Given the description of an element on the screen output the (x, y) to click on. 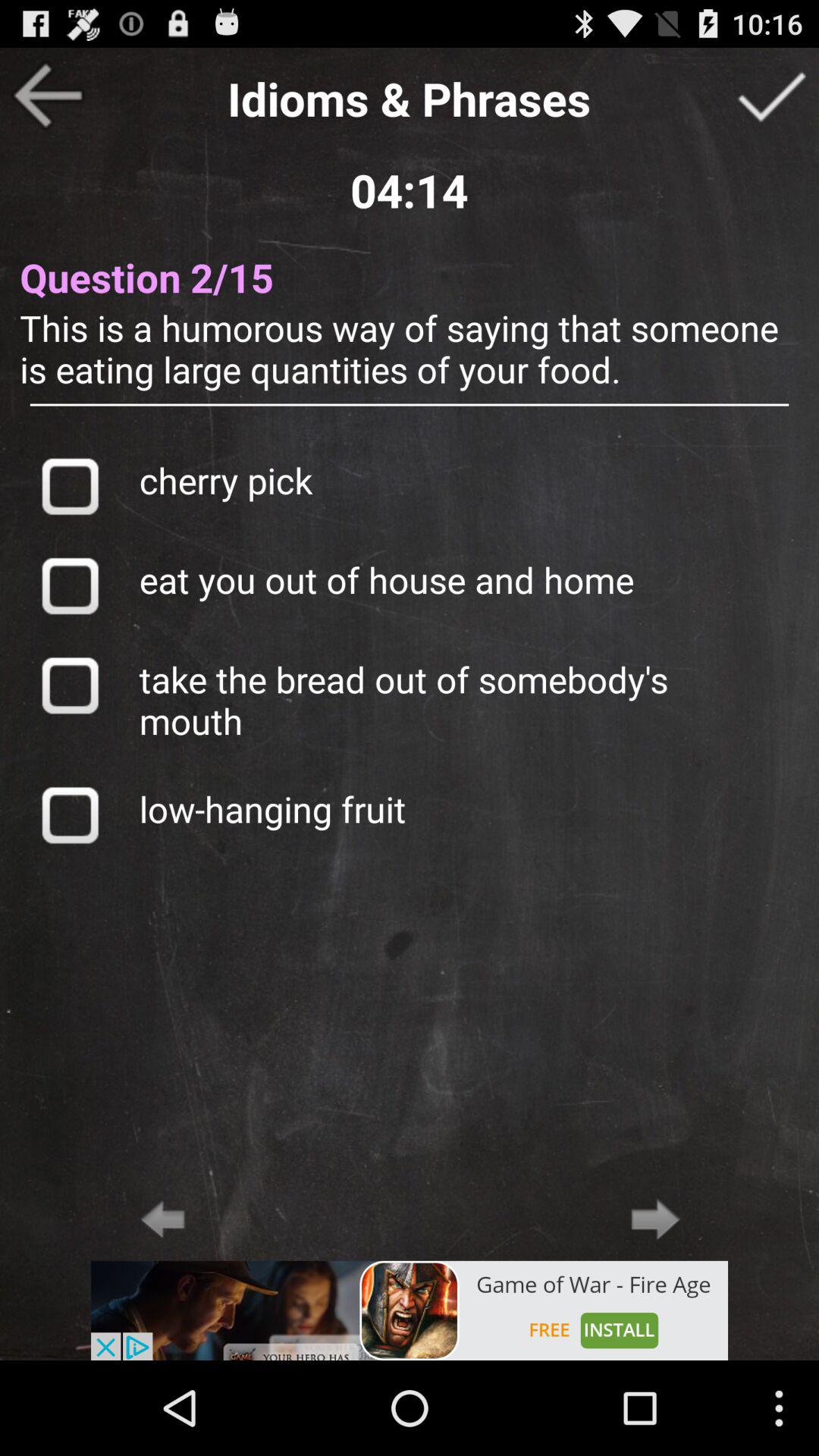
next button (655, 1218)
